Given the description of an element on the screen output the (x, y) to click on. 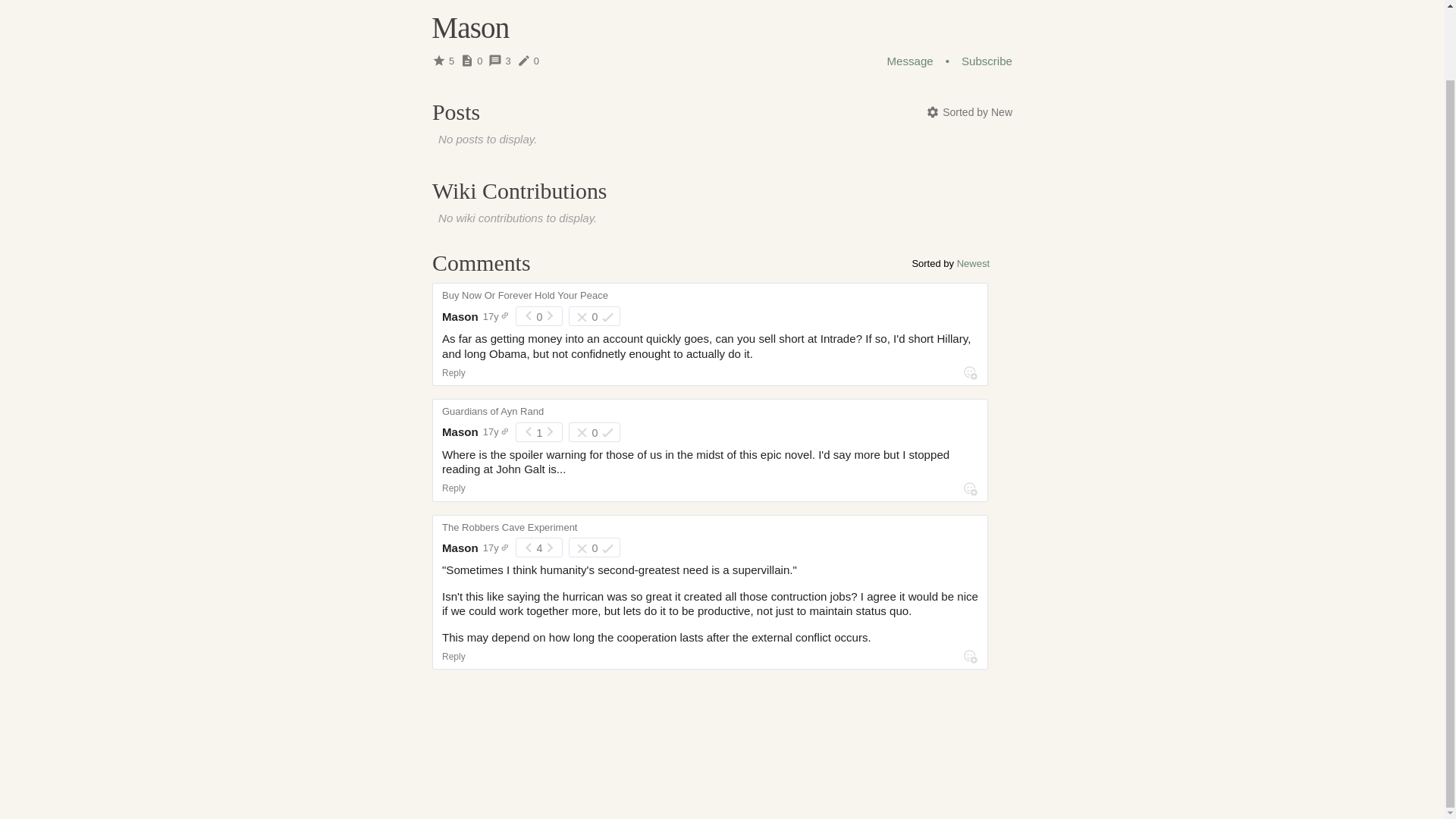
Mason (460, 316)
Reply (453, 656)
Reply (453, 372)
Guardians of Ayn Rand (492, 407)
Newest (973, 263)
Message (909, 60)
Comments (481, 262)
5 karma (446, 61)
The Robbers Cave Experiment (509, 524)
Mason (460, 547)
